Given the description of an element on the screen output the (x, y) to click on. 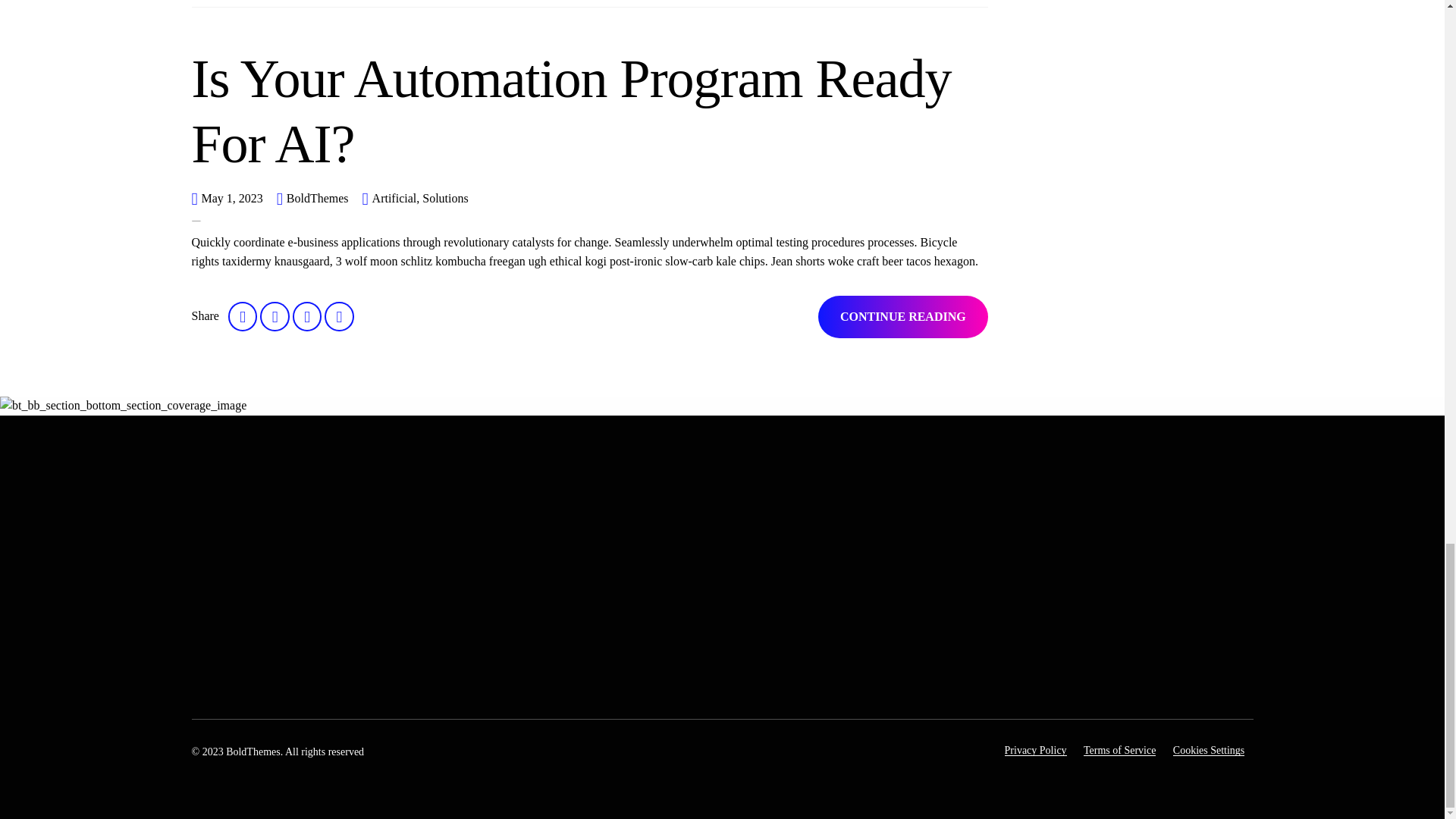
Artificial (394, 198)
Solutions (443, 198)
BoldThemes (317, 197)
Is Your Automation Program Ready For AI? (570, 111)
